Given the description of an element on the screen output the (x, y) to click on. 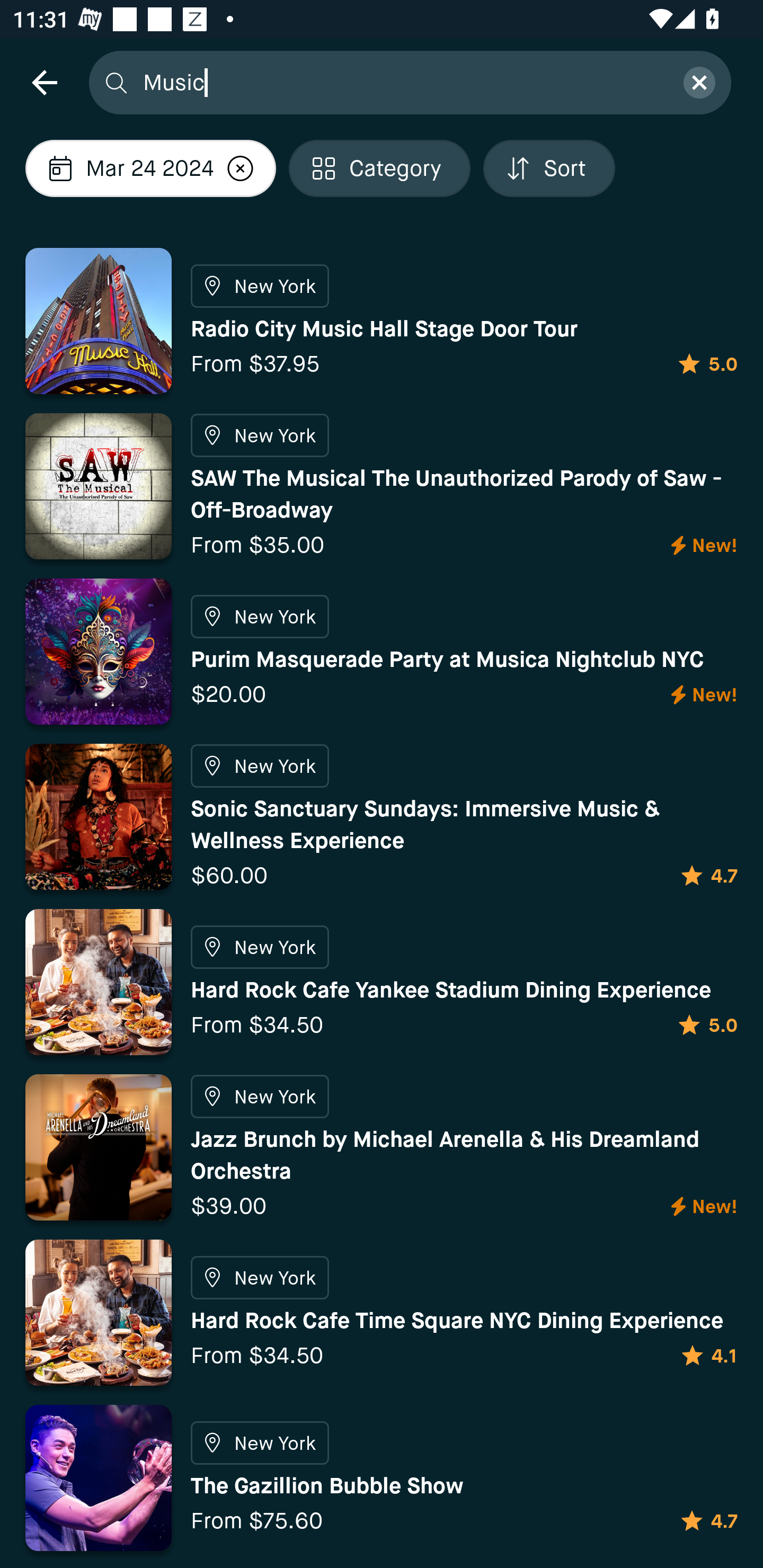
navigation icon (44, 81)
Music (402, 81)
Localized description (240, 168)
Localized description Category (379, 168)
Localized description Sort (548, 168)
